Given the description of an element on the screen output the (x, y) to click on. 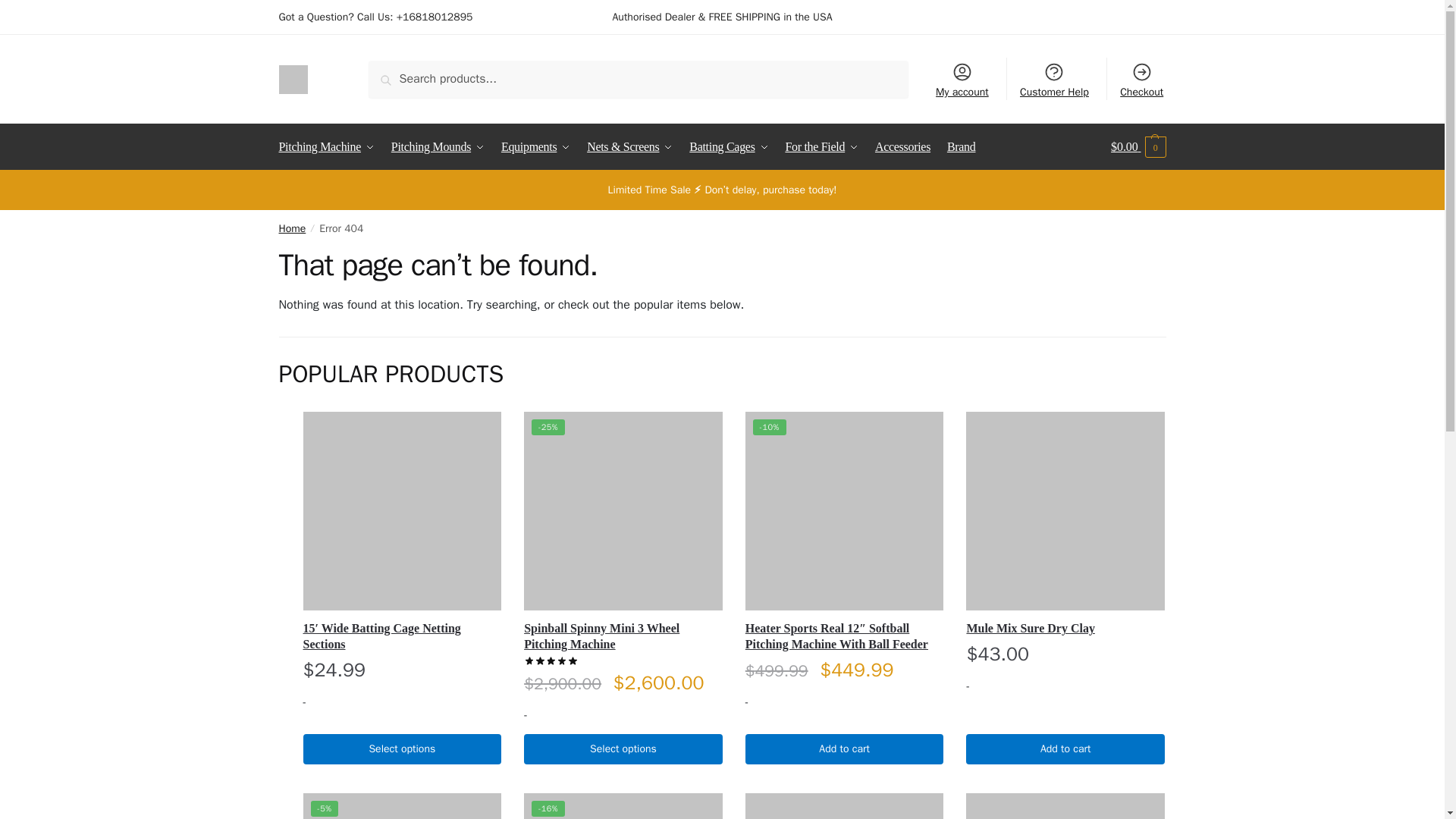
Pitching Machine (330, 146)
My account (961, 78)
Customer Help (1053, 78)
Checkout (1141, 78)
View your shopping cart (1138, 146)
Equipments (535, 146)
Search (403, 77)
Pitching Mounds (437, 146)
